Given the description of an element on the screen output the (x, y) to click on. 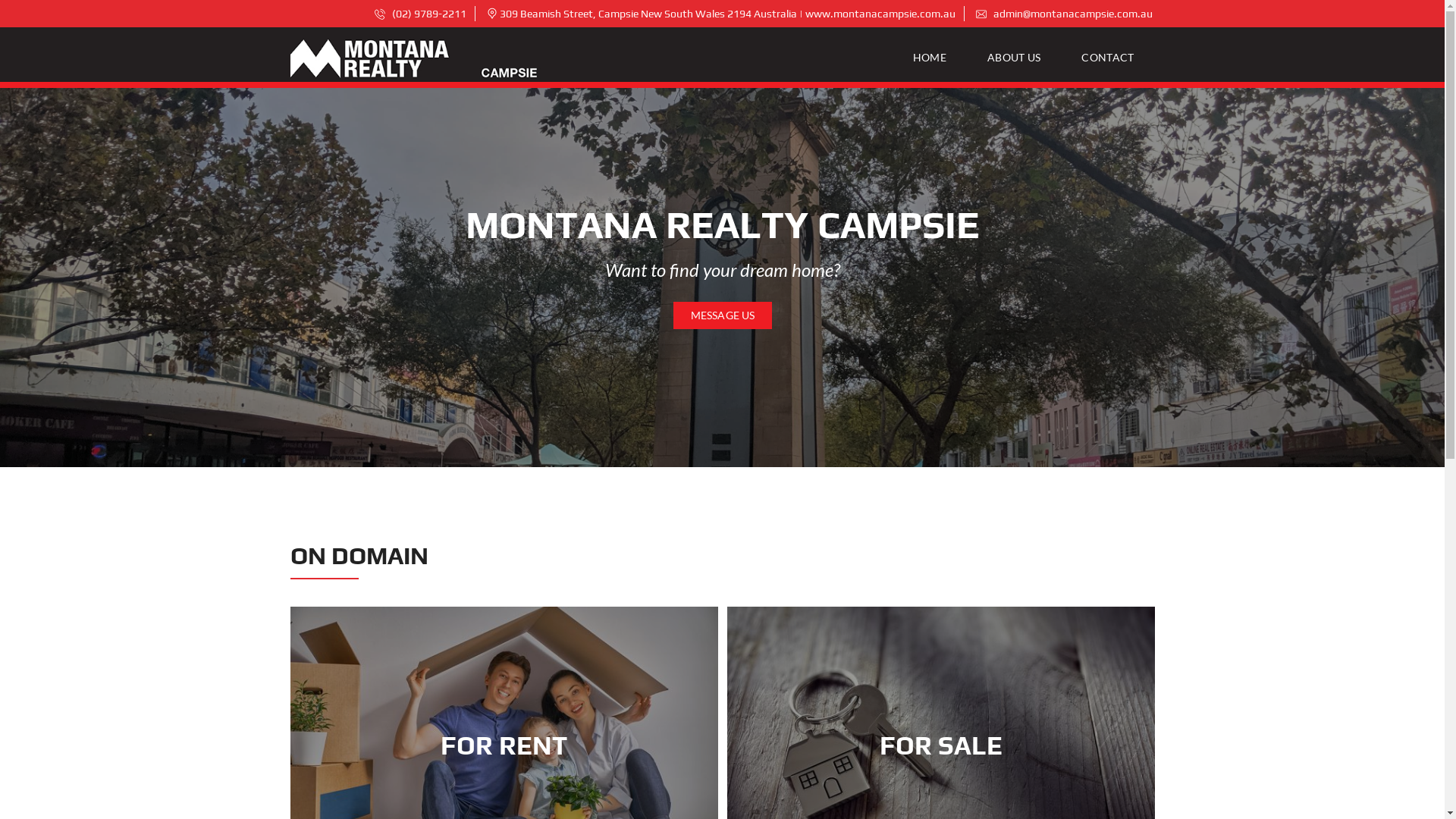
Montana Realty Element type: hover (414, 57)
ABOUT US Element type: text (1013, 57)
CONTACT Element type: text (1107, 57)
MESSAGE US Element type: text (722, 315)
admin@montanacampsie.com.au Element type: text (1063, 13)
(02) 9789-2211 Element type: text (420, 13)
HOME Element type: text (936, 57)
